Given the description of an element on the screen output the (x, y) to click on. 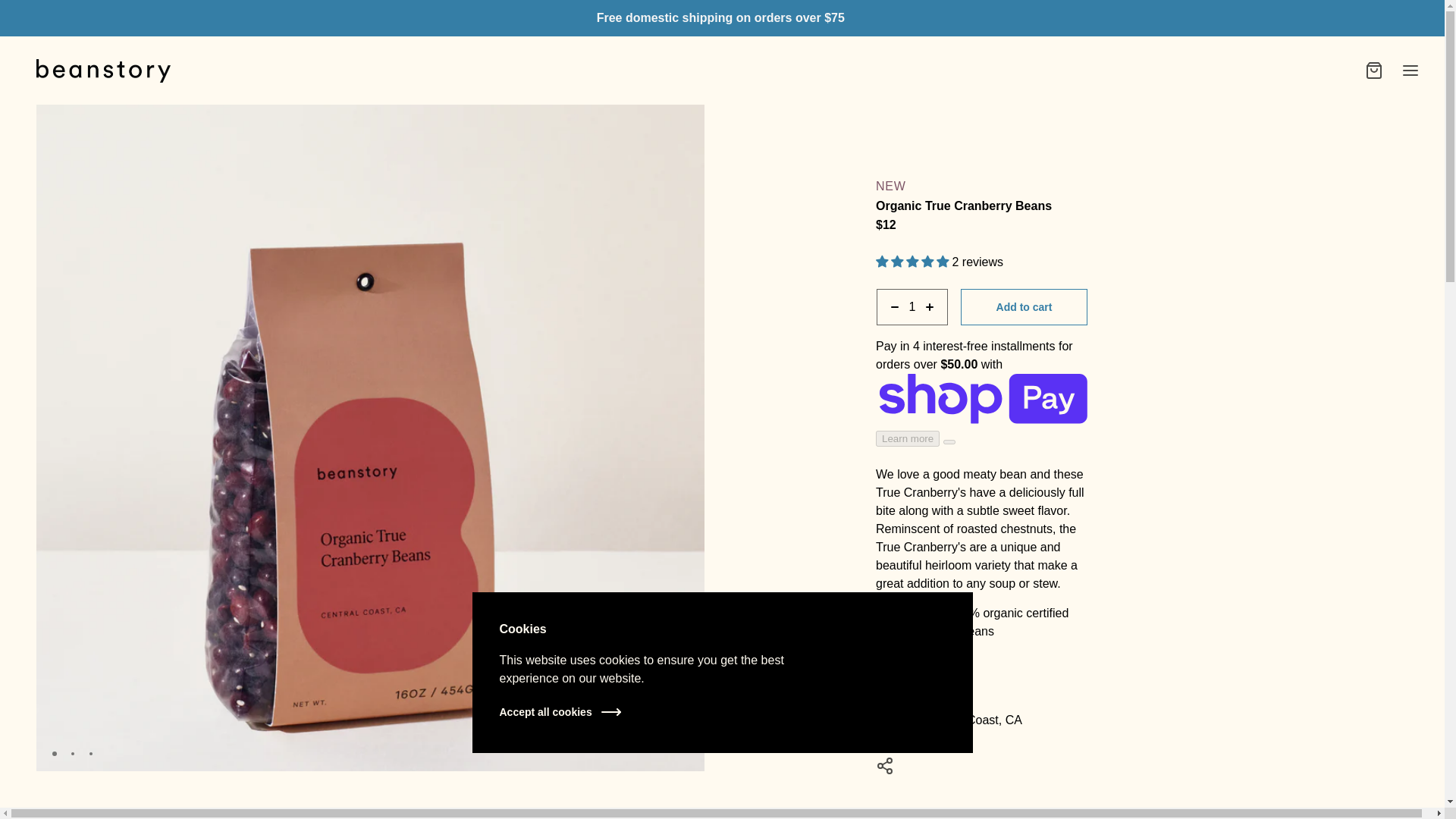
BACK TO SHOP (981, 810)
Add to cart (1023, 307)
1 (911, 307)
